Given the description of an element on the screen output the (x, y) to click on. 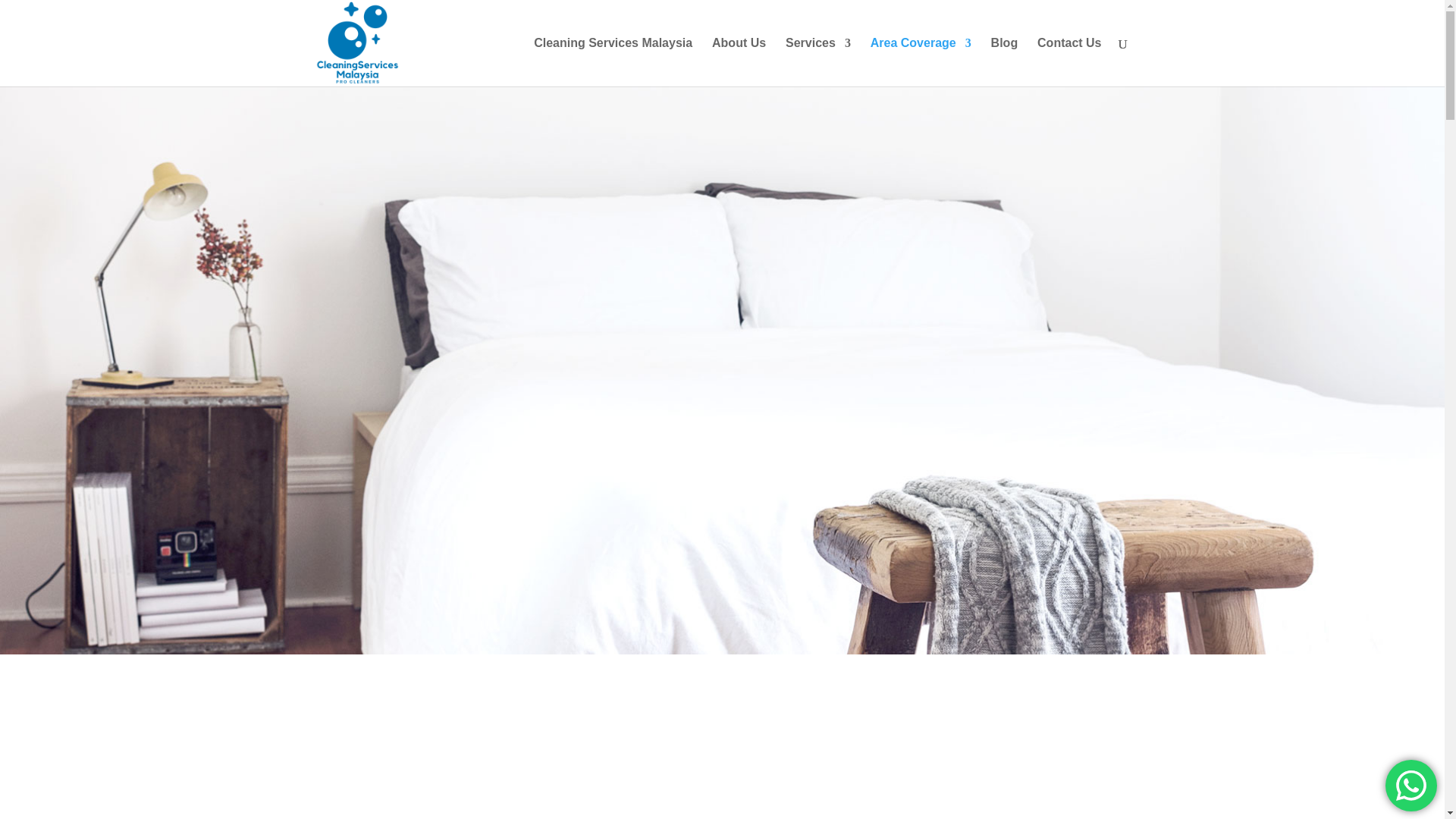
Area Coverage (920, 61)
Cleaning Services Malaysia (613, 61)
About Us (738, 61)
Services (818, 61)
